Given the description of an element on the screen output the (x, y) to click on. 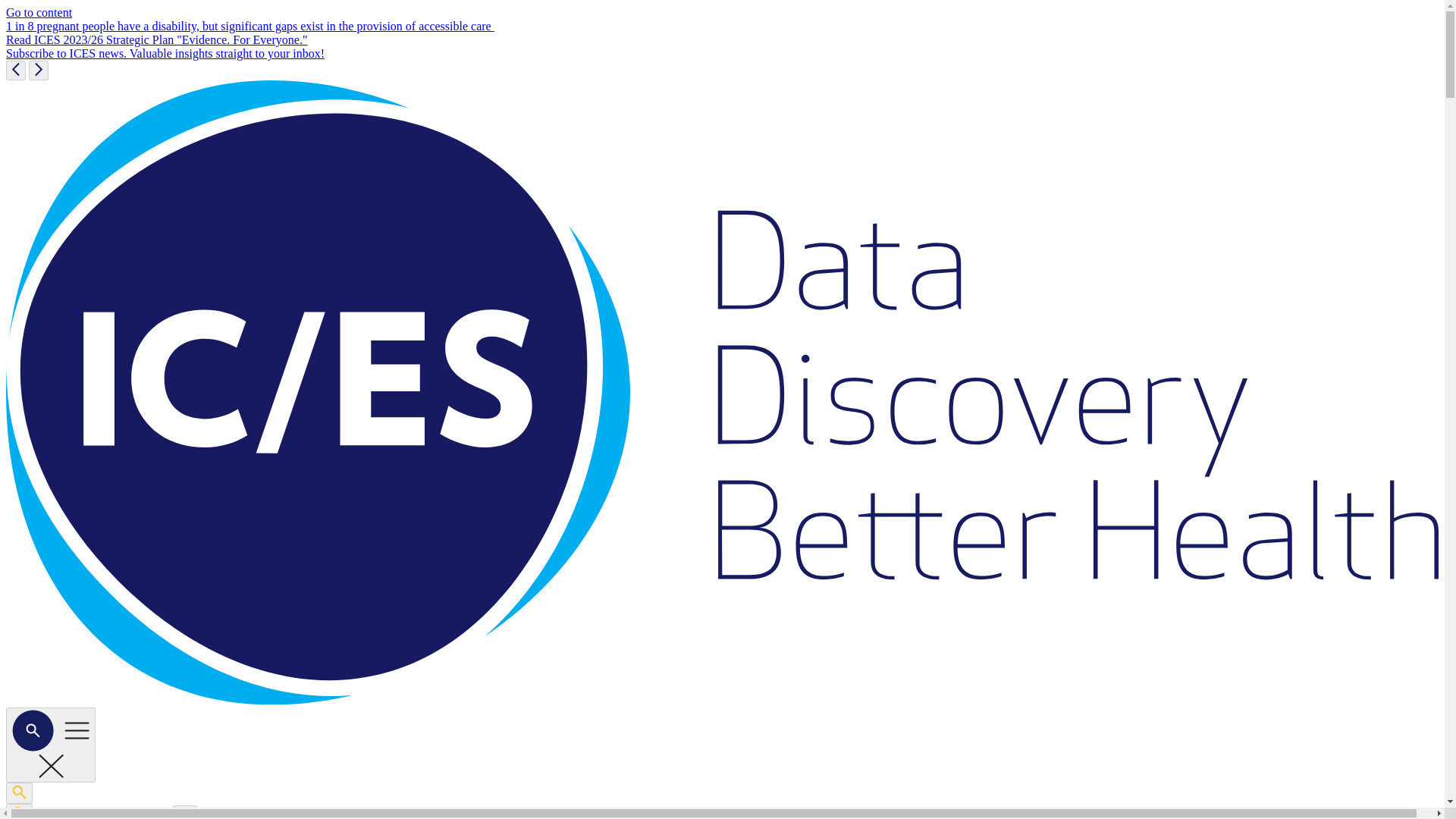
Go to content (38, 11)
